Given the description of an element on the screen output the (x, y) to click on. 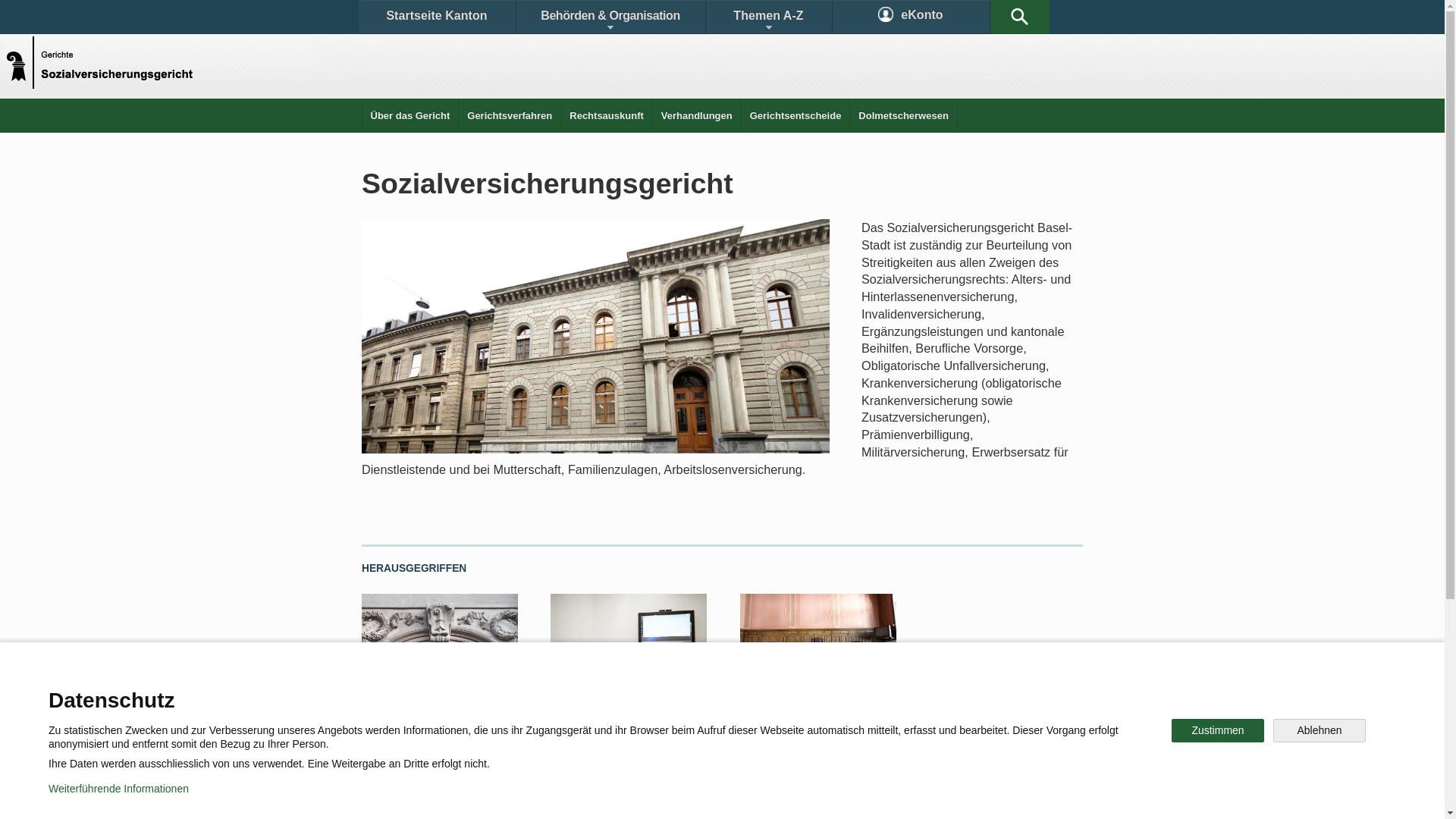
Gerichtsverfahren Element type: text (509, 115)
eKonto Element type: text (910, 17)
Bild & Multimedia Element type: text (908, 693)
Die Gerichte des Kantons Basel-Stadt Element type: text (430, 723)
Medien Element type: text (569, 715)
Instagram Element type: text (738, 746)
Rechtsauskunft Element type: text (606, 115)
Startseite Kanton Element type: text (435, 17)
Zustimmen Element type: text (1217, 730)
Nutzungsregelungen Element type: text (542, 796)
Stadtplan & Karte Element type: text (504, 693)
Facebook Element type: text (547, 746)
Dolmetscherwesen Element type: text (903, 115)
Statistiken Element type: text (687, 693)
Twitter Element type: text (642, 746)
Gerichtsentscheide Element type: text (792, 715)
Gesetze Element type: text (597, 693)
Themen A-Z Element type: text (768, 17)
Kontakt Element type: text (406, 693)
Publikationen Element type: text (795, 693)
Ablehnen Element type: text (1319, 730)
Zur mobilen Ansicht Element type: text (752, 796)
Verhandlungen Element type: text (696, 115)
Impressum Element type: text (648, 796)
Gerichtsentscheide Element type: text (795, 115)
